Given the description of an element on the screen output the (x, y) to click on. 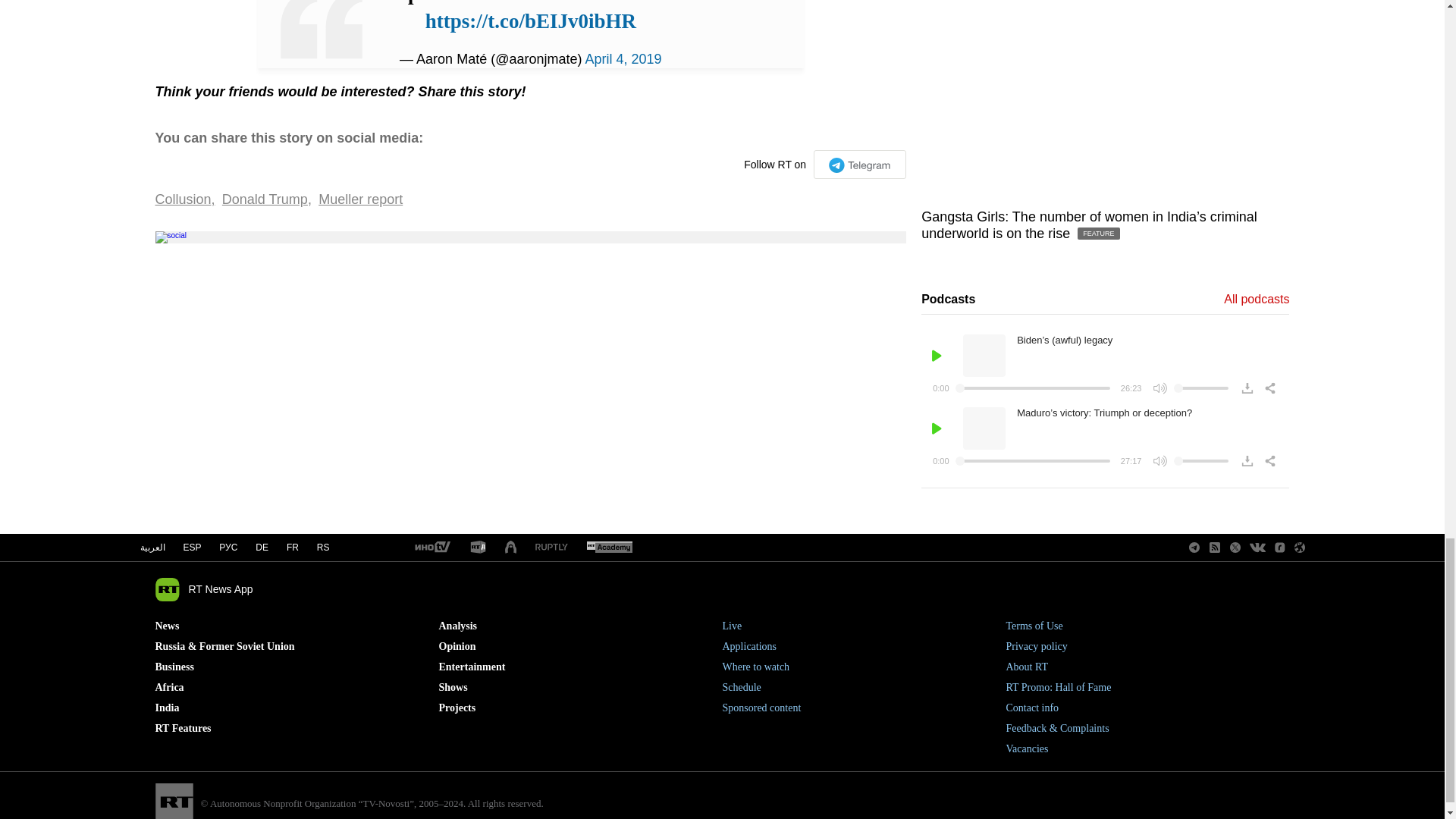
RT  (478, 547)
RT  (431, 547)
RT  (551, 547)
RT  (608, 547)
